Given the description of an element on the screen output the (x, y) to click on. 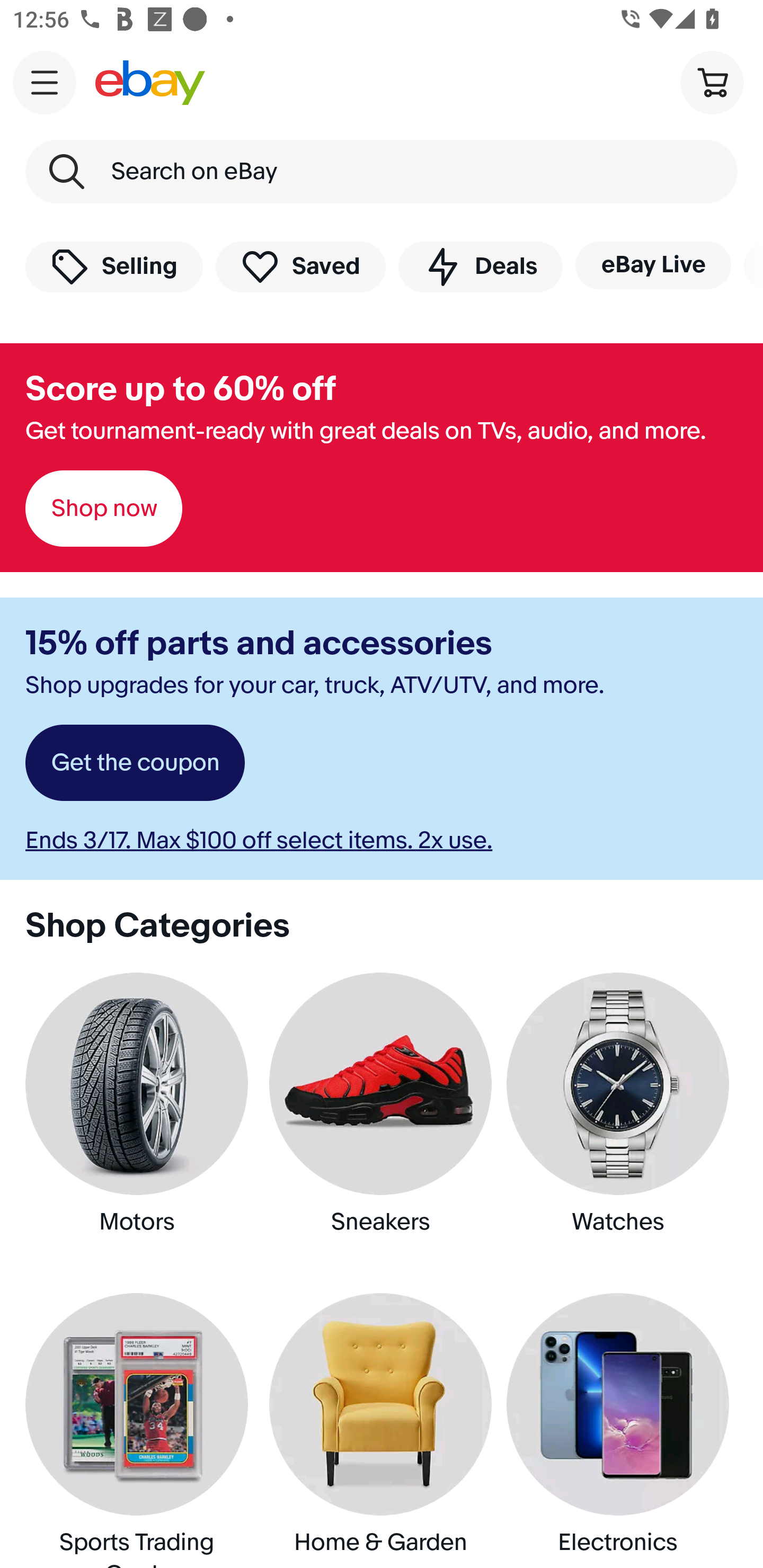
Main navigation, open (44, 82)
Cart button shopping cart (711, 81)
Search on eBay Search Keyword Search on eBay (381, 171)
Selling (113, 266)
Saved (300, 266)
Deals (480, 266)
eBay Live (652, 264)
Score up to 60% off (180, 389)
Shop now (103, 508)
15% off parts and accessories (258, 643)
Get the coupon (134, 762)
Ends 3/17. Max $100 off select items. 2x use. (258, 840)
Motors (140, 1119)
Sneakers (381, 1119)
Watches (621, 1119)
Sports Trading Cards (140, 1430)
Home & Garden (381, 1430)
Electronics (621, 1430)
